Given the description of an element on the screen output the (x, y) to click on. 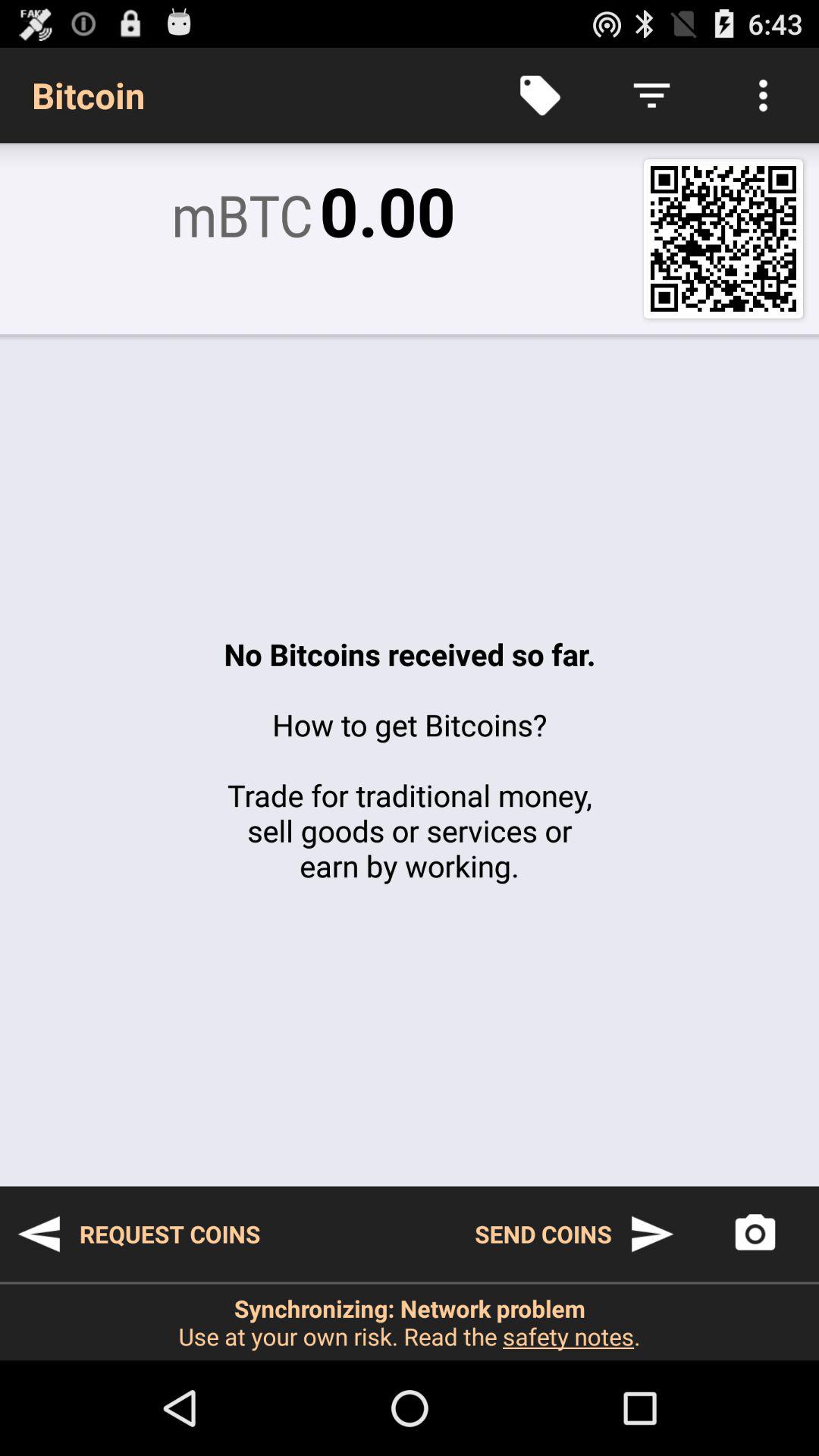
press the item next to the send coins (138, 1233)
